Given the description of an element on the screen output the (x, y) to click on. 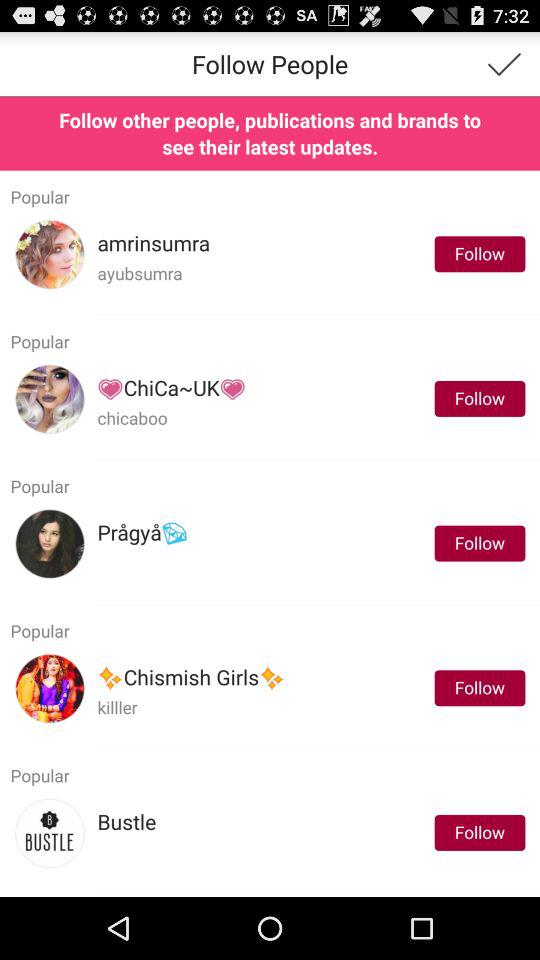
press the item to the left of the follow (142, 532)
